Given the description of an element on the screen output the (x, y) to click on. 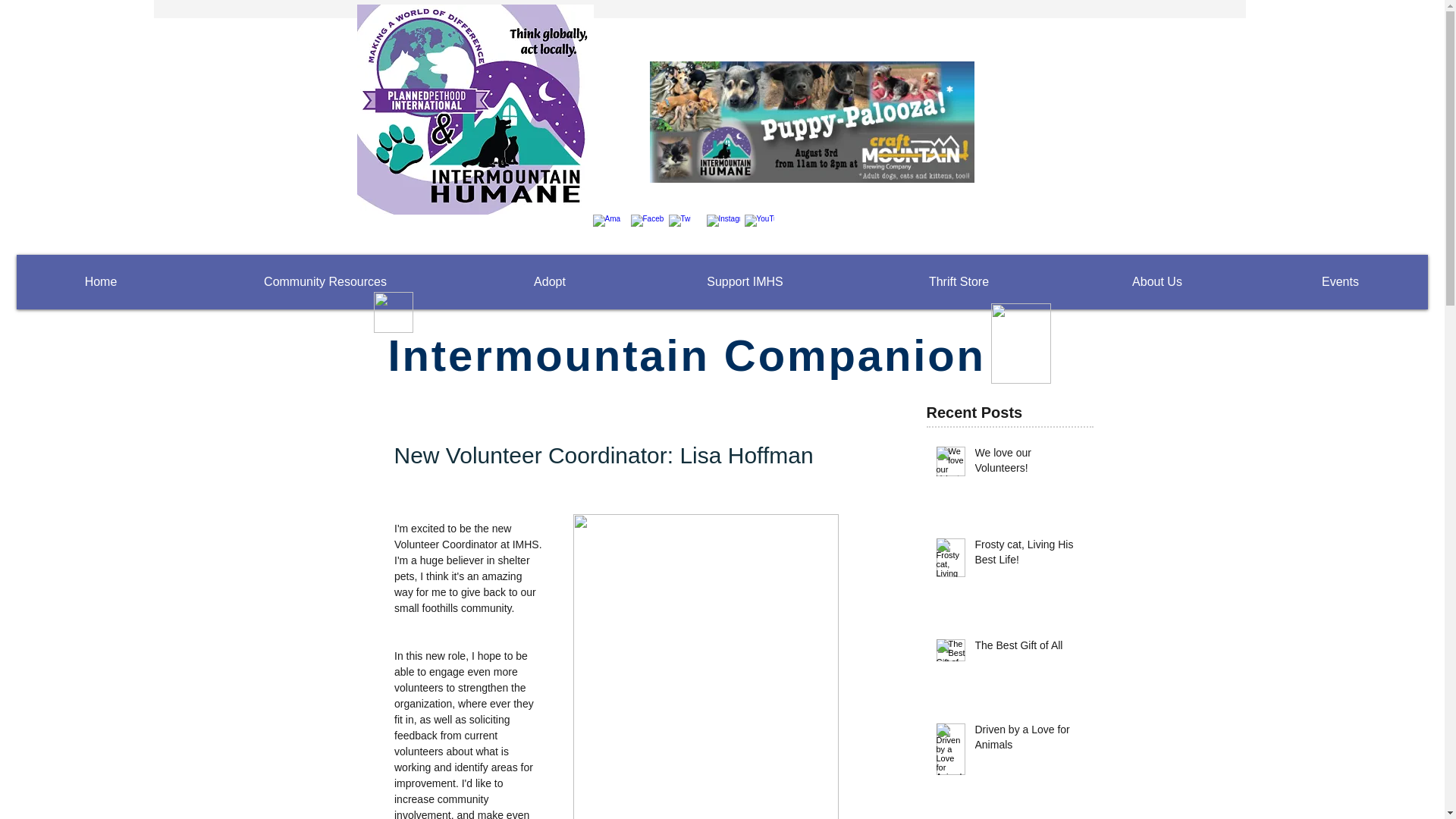
Frosty cat, Living His Best Life! (1029, 555)
Driven by a Love for Animals (1029, 740)
Thrift Store (958, 281)
Home (100, 281)
The Best Gift of All (1029, 649)
Intermountain Companion (686, 355)
We love our Volunteers! (1029, 463)
Events (1340, 281)
